Given the description of an element on the screen output the (x, y) to click on. 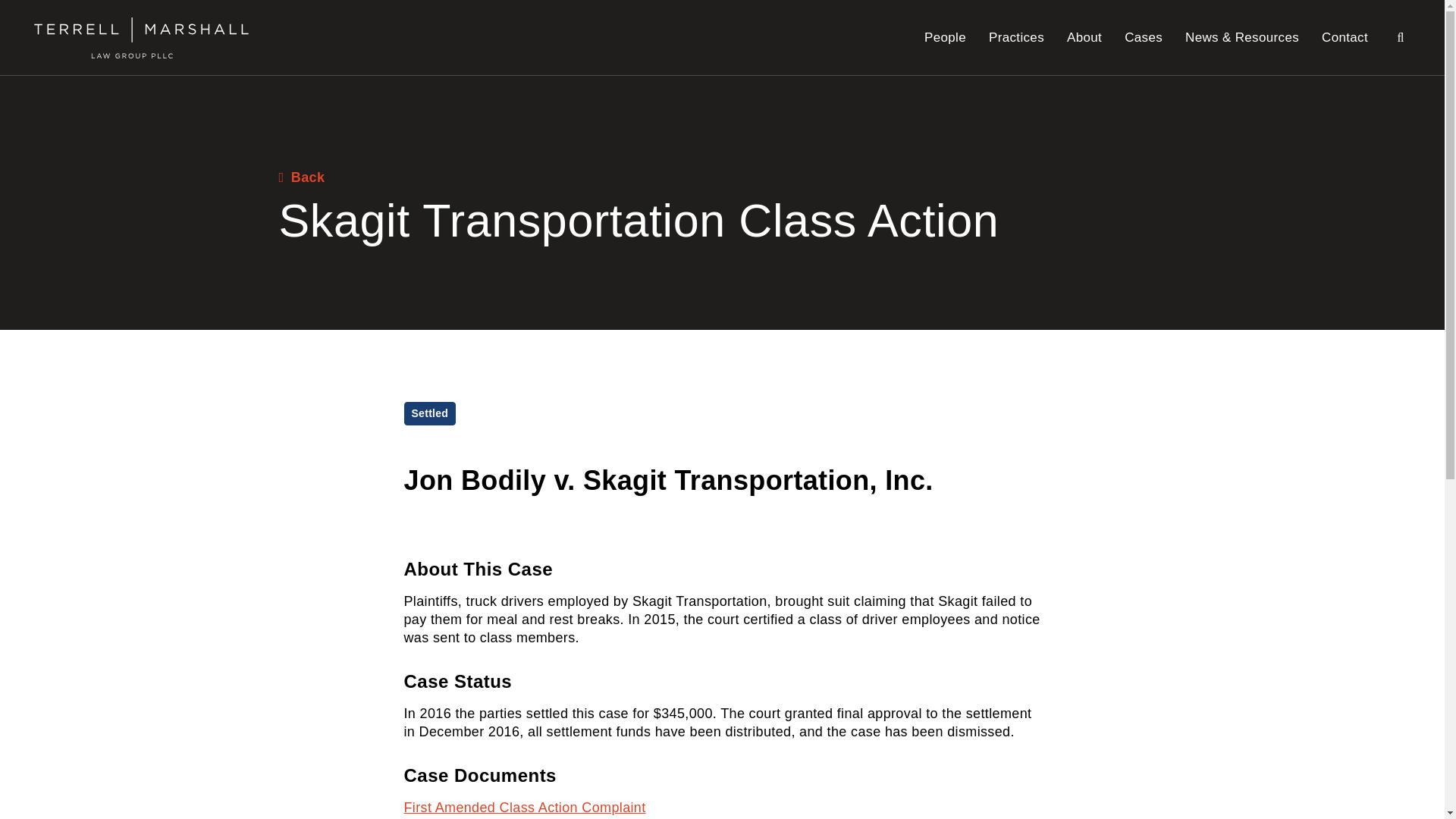
Settled (429, 413)
First Amended Class Action Complaint (524, 807)
Search (1400, 36)
Back (301, 177)
